Given the description of an element on the screen output the (x, y) to click on. 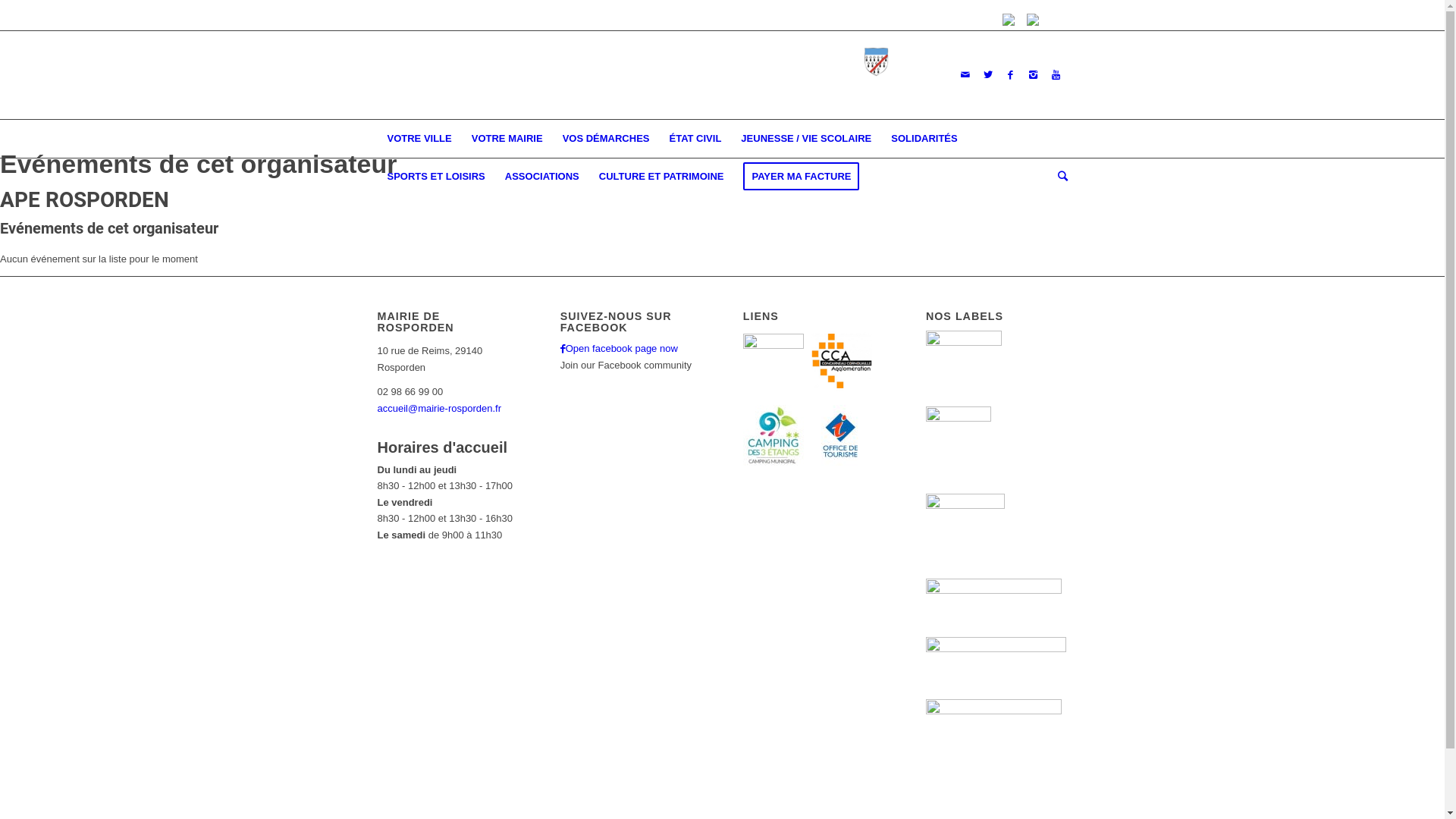
VOTRE MAIRIE Element type: text (506, 138)
Facebook Element type: hover (1010, 74)
JEUNESSE / VIE SCOLAIRE Element type: text (806, 138)
ASSOCIATIONS Element type: text (542, 176)
CULTURE ET PATRIMOINE Element type: text (661, 176)
Open facebook page now Element type: text (618, 348)
Mail Element type: hover (964, 74)
SPORTS ET LOISIRS Element type: text (436, 176)
Twitter Element type: hover (987, 74)
PAYER MA FACTURE Element type: text (801, 176)
Youtube Element type: hover (1055, 74)
VOTRE VILLE Element type: text (419, 138)
Instagram Element type: hover (1033, 74)
accueil@mairie-rosporden.fr Element type: text (439, 408)
